Given the description of an element on the screen output the (x, y) to click on. 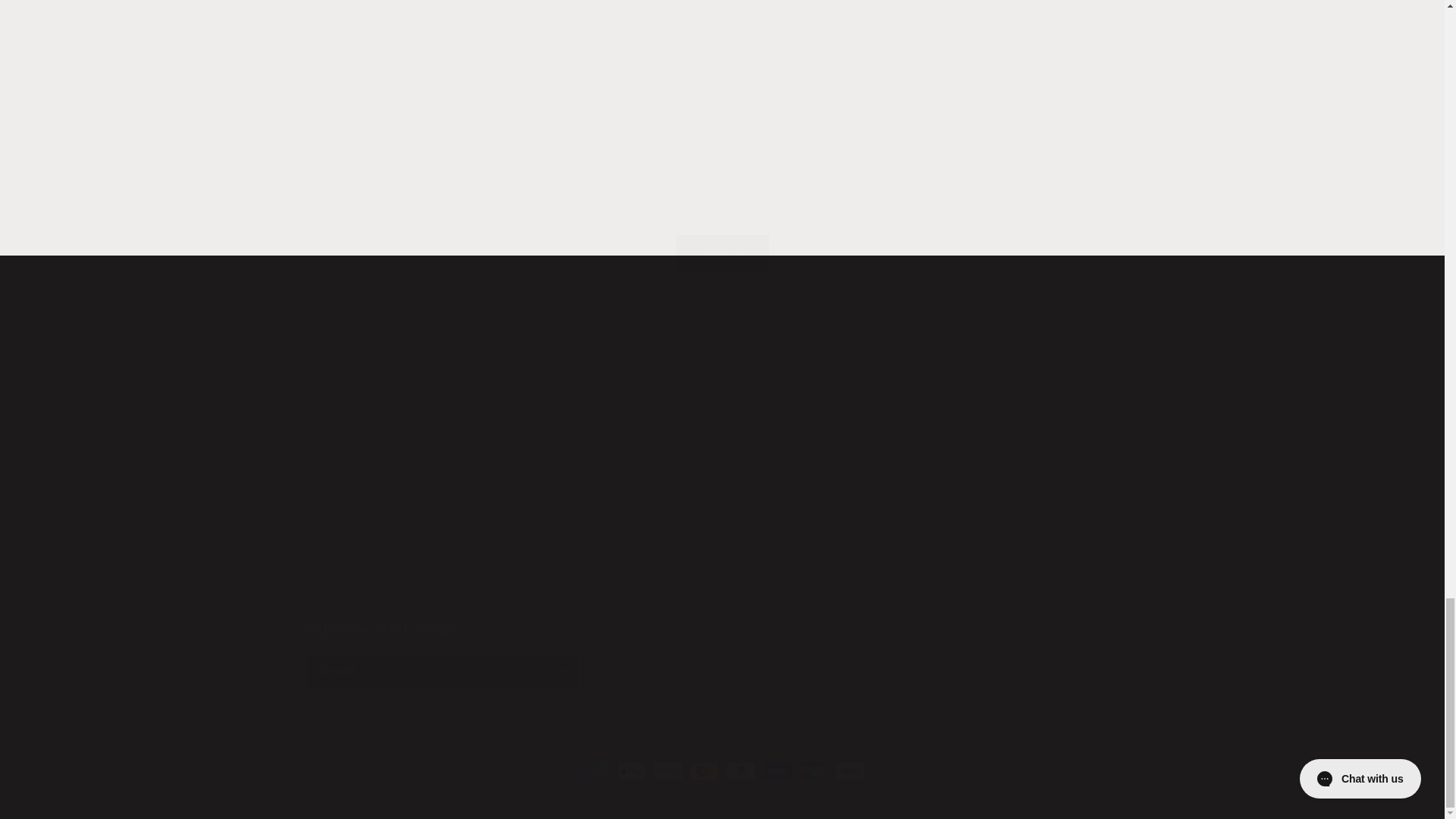
Orthopedic Dog Bed (721, 654)
Calming Dog Bed (925, 367)
Dog Hair Clippers (975, 356)
Dog Car Hammock (946, 378)
View all (810, 378)
